Given the description of an element on the screen output the (x, y) to click on. 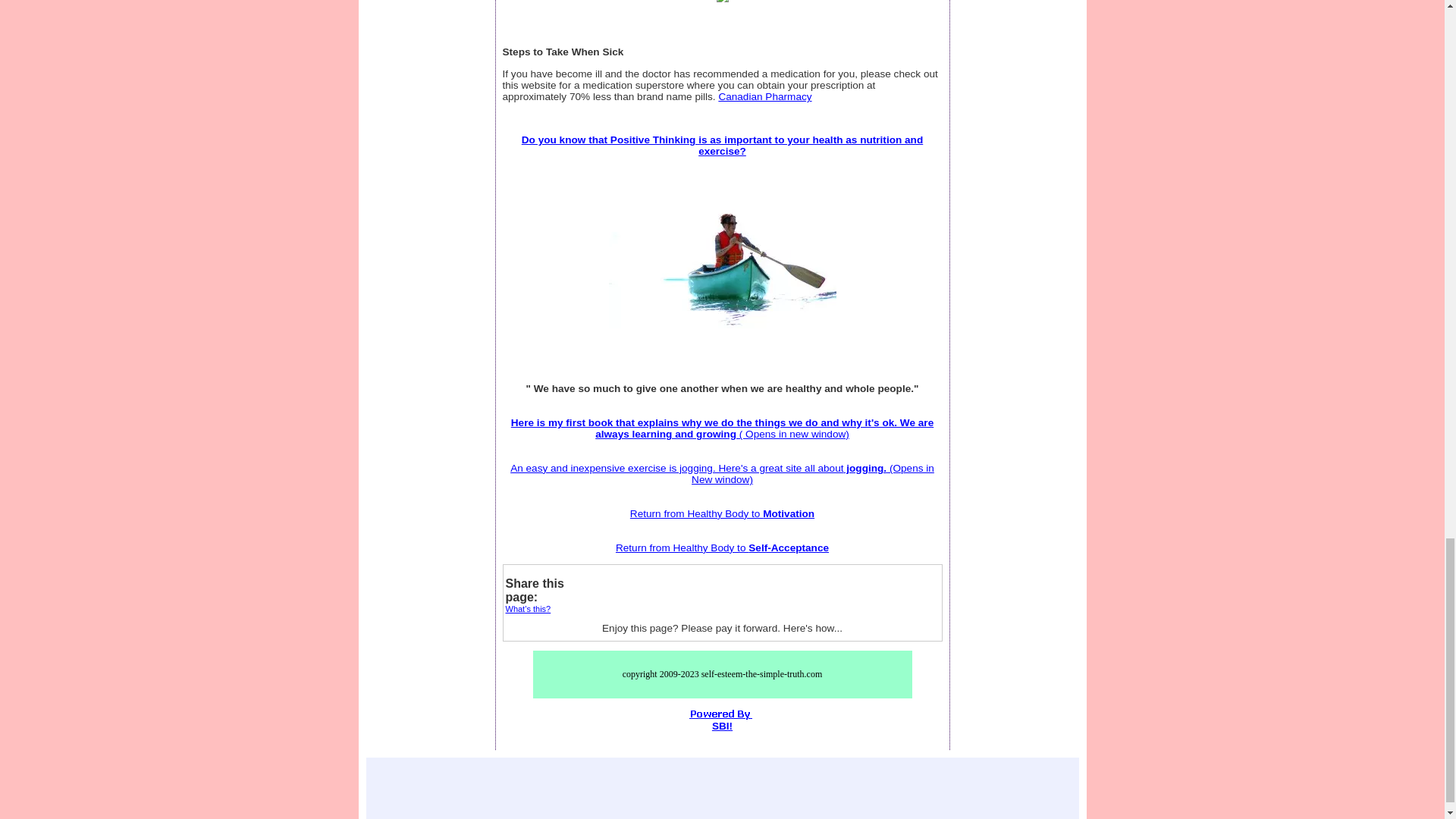
Canadian Pharmacy (763, 96)
Return from Healthy Body to Self-Acceptance (721, 547)
Return from Healthy Body to Motivation (721, 513)
